Given the description of an element on the screen output the (x, y) to click on. 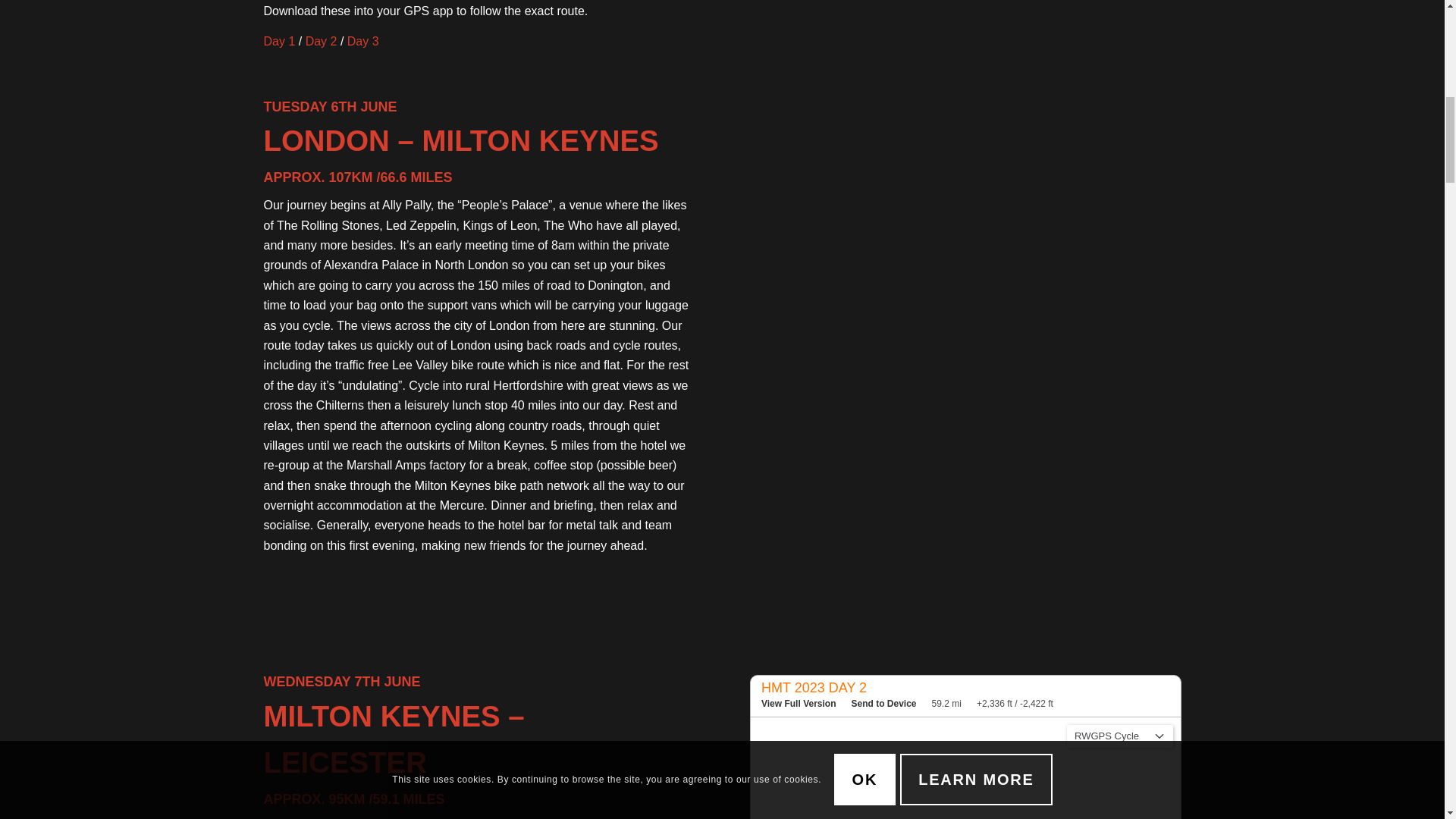
Day 2 (321, 41)
Day 3 (362, 41)
Day 1 (279, 41)
